Given the description of an element on the screen output the (x, y) to click on. 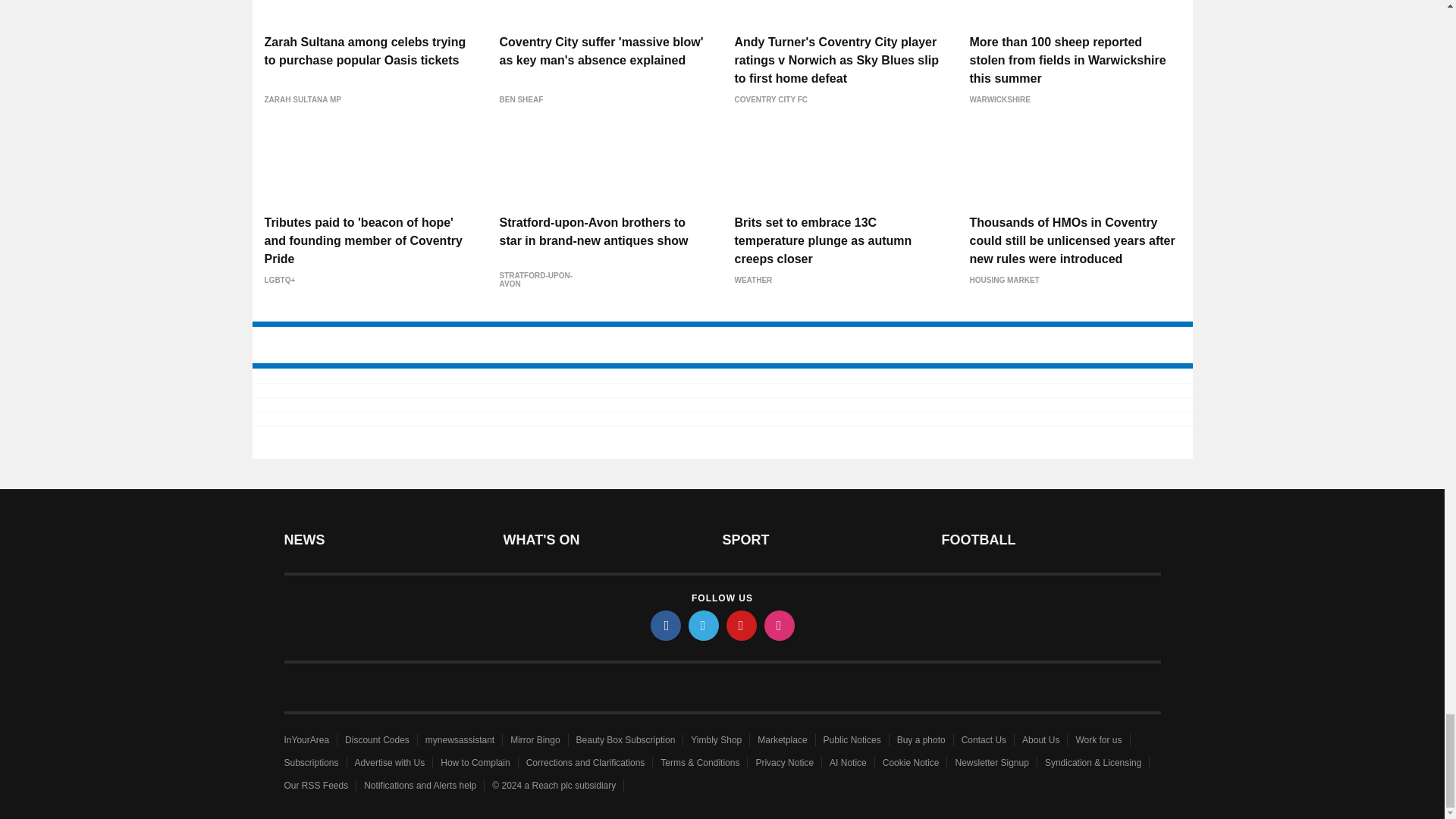
instagram (779, 625)
pinterest (741, 625)
facebook (665, 625)
twitter (703, 625)
